Given the description of an element on the screen output the (x, y) to click on. 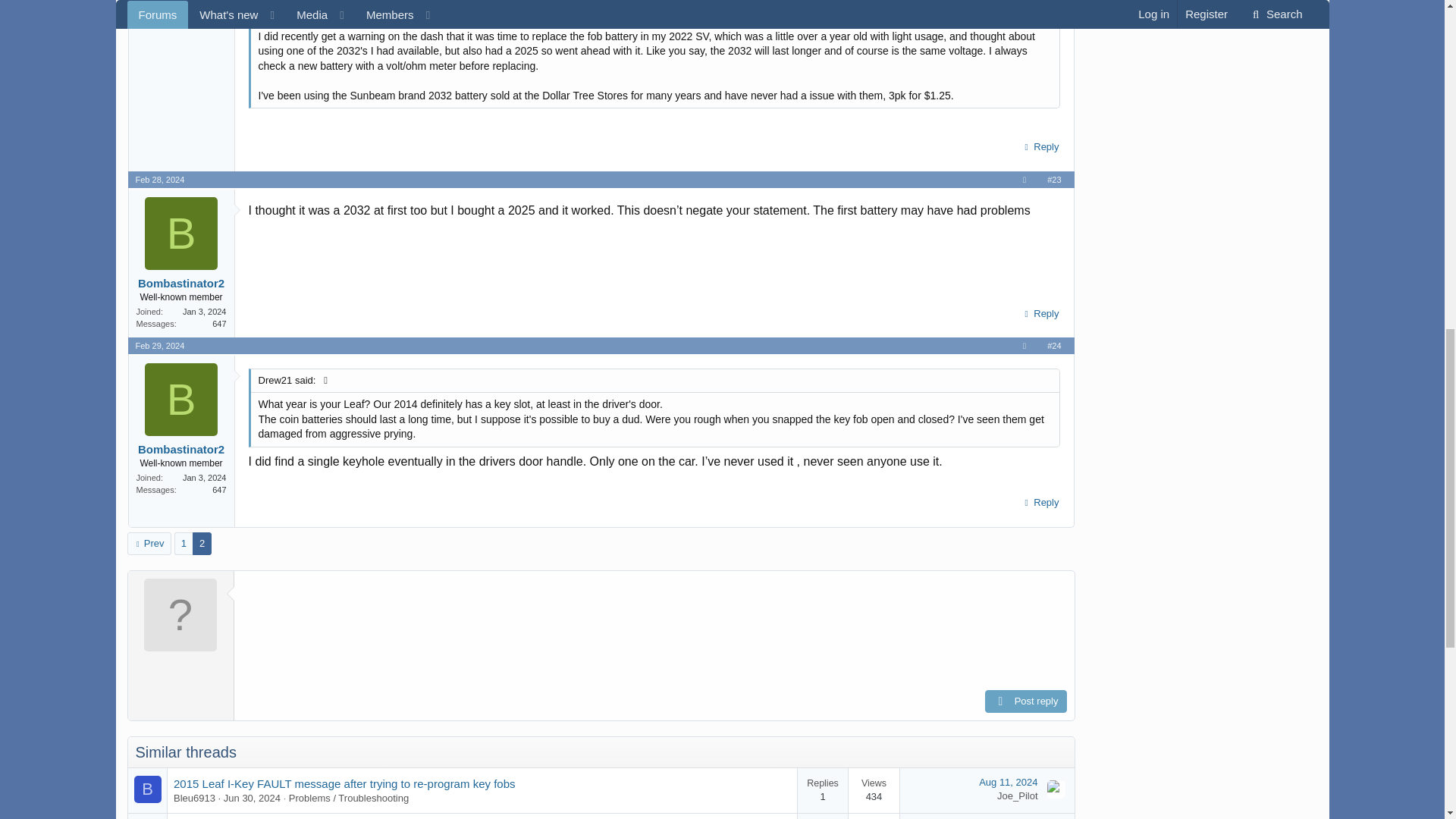
Jun 30, 2024 at 4:20 AM (252, 797)
Reply, quoting this message (1039, 502)
Reply, quoting this message (1039, 147)
Feb 28, 2024 at 10:09 AM (159, 179)
Reply, quoting this message (1039, 313)
Feb 29, 2024 at 8:19 PM (159, 345)
